Given the description of an element on the screen output the (x, y) to click on. 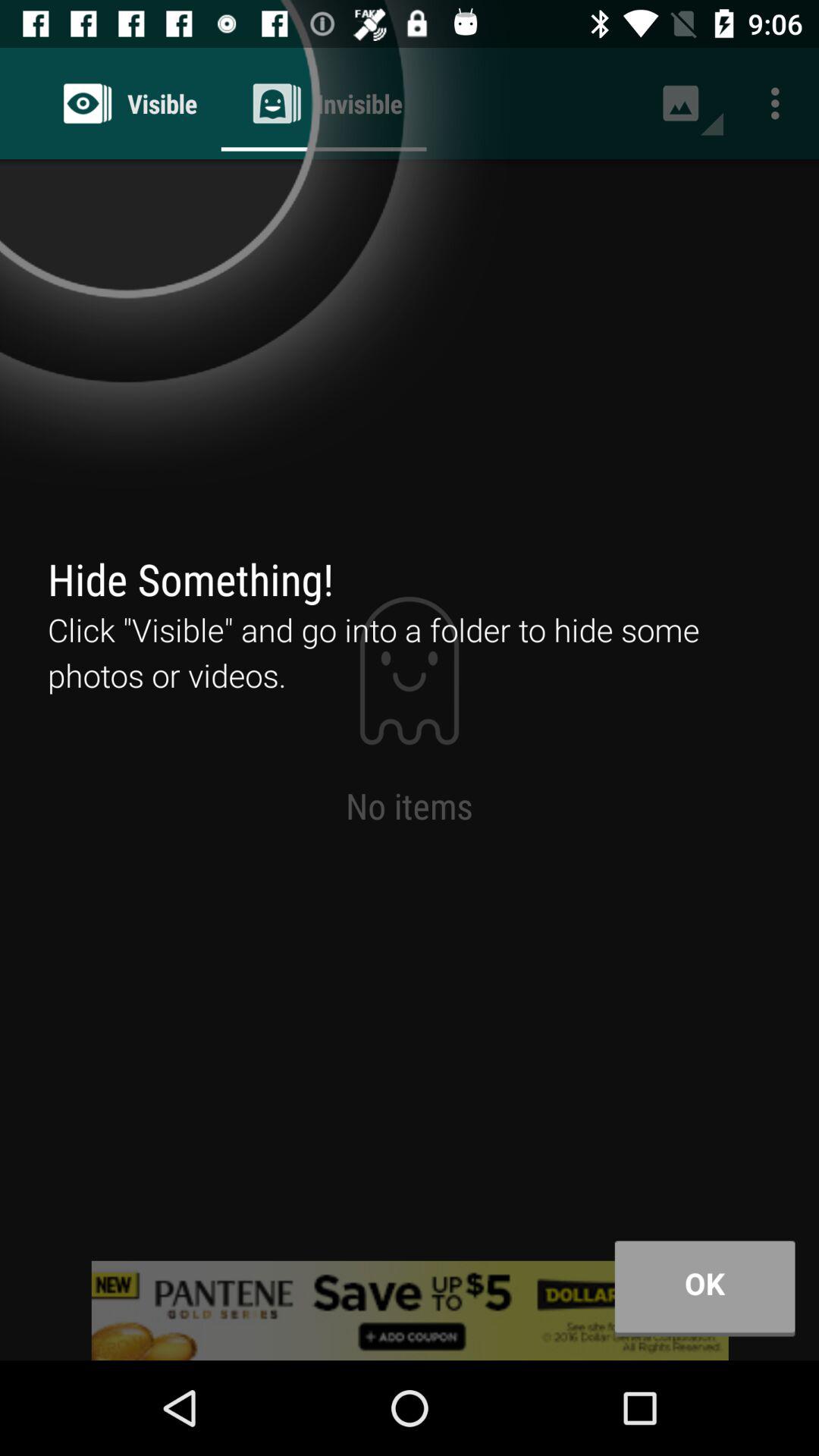
select advertisement (409, 1310)
